Given the description of an element on the screen output the (x, y) to click on. 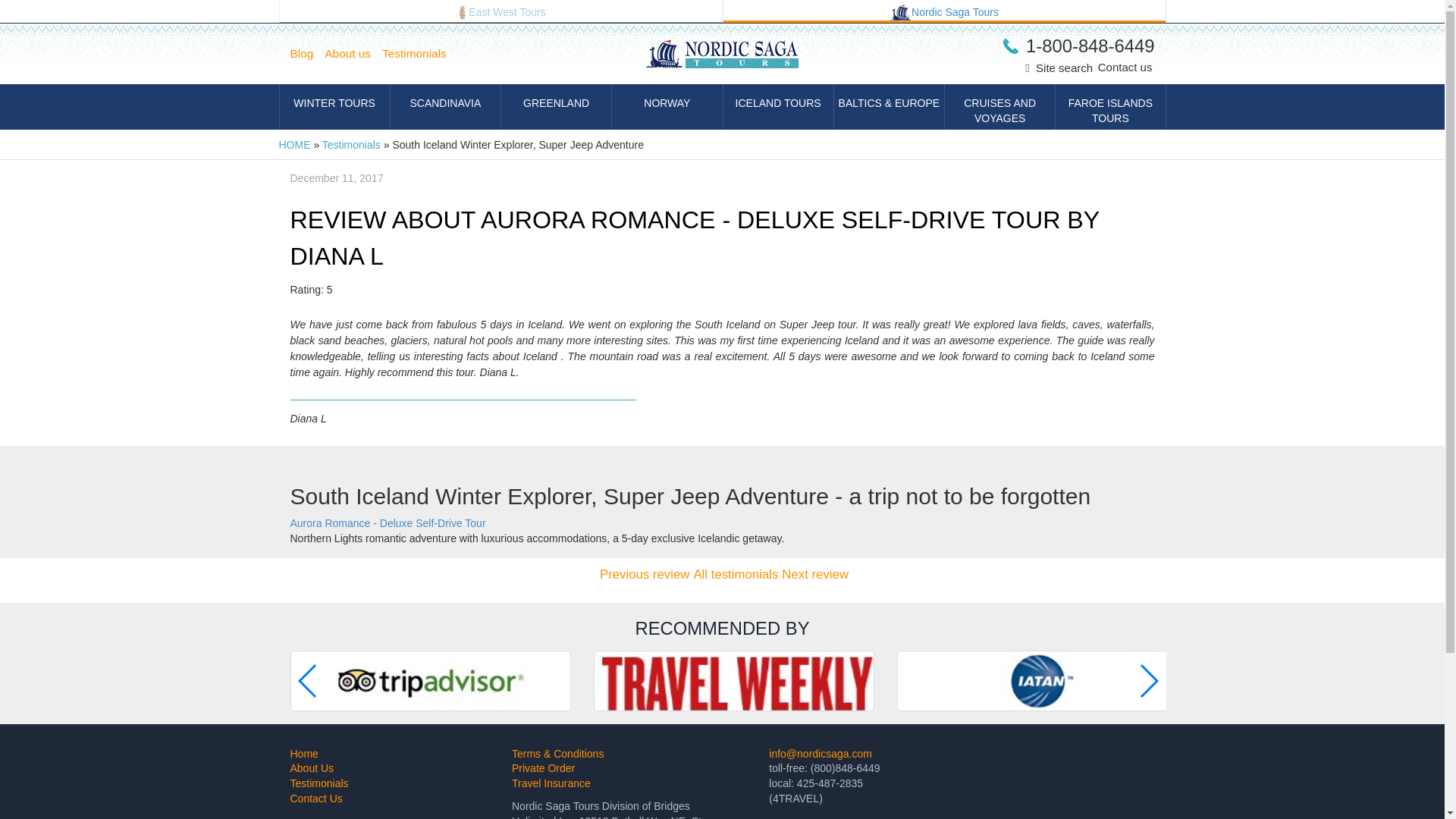
East West Tours (500, 11)
Blog (306, 53)
WINTER TOURS (333, 106)
Testimonials (350, 144)
About us (352, 53)
Contact us (1125, 66)
Testimonials (419, 53)
scandinavian tours (900, 13)
HOME (295, 144)
Nordic Saga Tours (944, 11)
NORDICSAGA.COM (944, 11)
1-800-848-6449 (1078, 46)
FAROE ISLANDS (1109, 106)
